Given the description of an element on the screen output the (x, y) to click on. 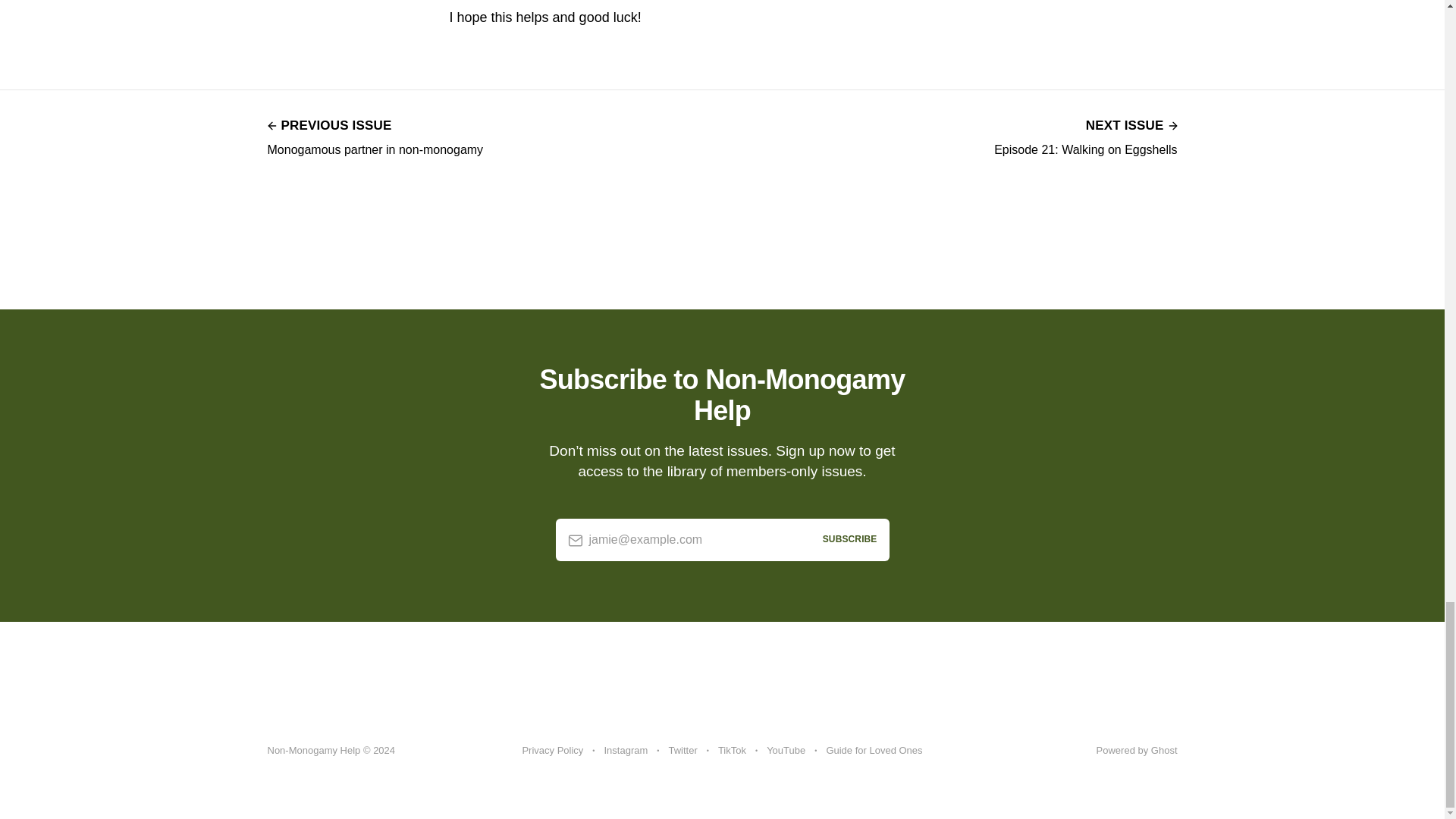
Twitter (1085, 136)
Privacy Policy (682, 750)
TikTok (552, 750)
Guide for Loved Ones (731, 750)
Instagram (873, 750)
YouTube (625, 750)
Powered by Ghost (374, 136)
